Given the description of an element on the screen output the (x, y) to click on. 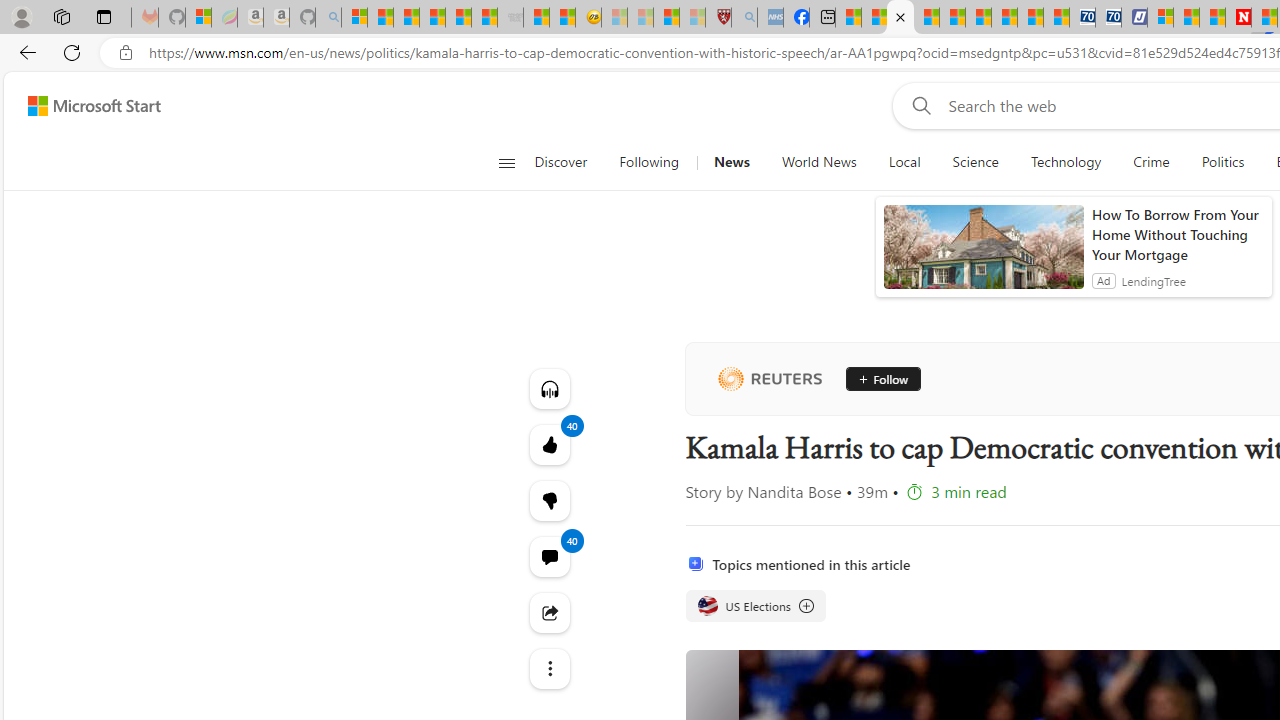
Class: at-item (548, 668)
View comments 40 Comment (548, 556)
The Weather Channel - MSN (406, 17)
